Given the description of an element on the screen output the (x, y) to click on. 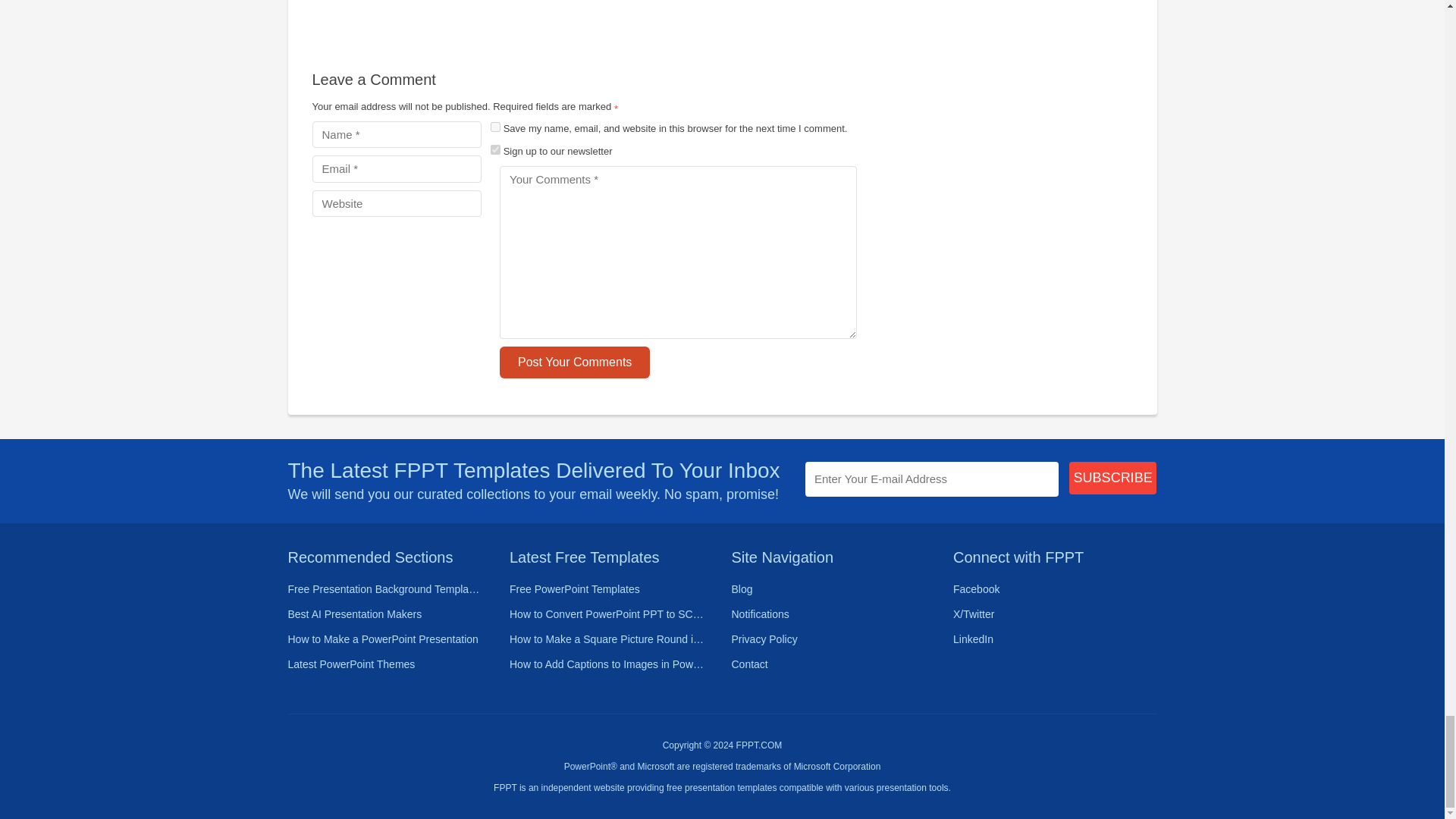
1 (495, 149)
Subscribe (1112, 477)
Post Your Comments (574, 362)
yes (495, 126)
Post Your Comments (574, 362)
